Given the description of an element on the screen output the (x, y) to click on. 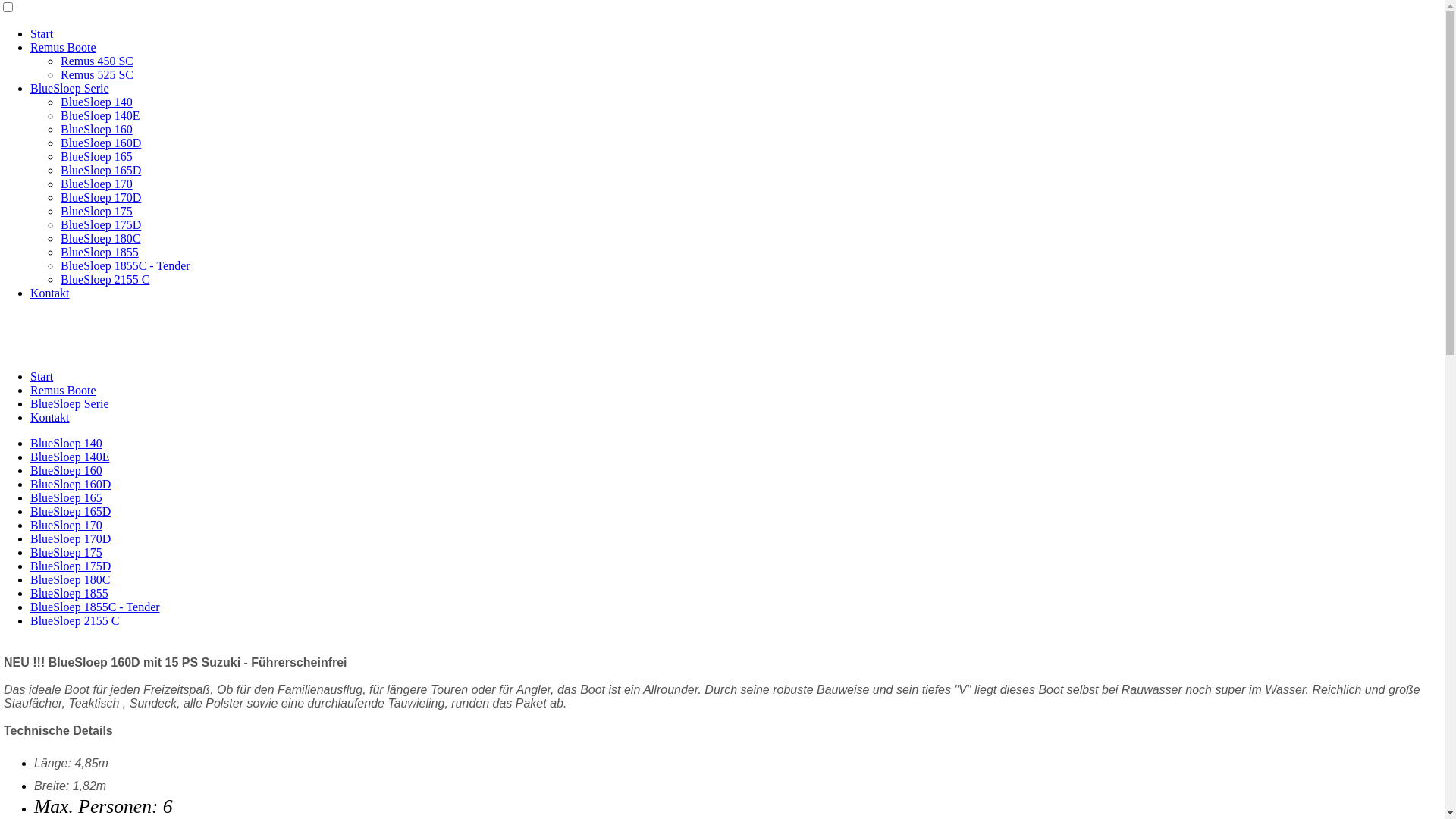
BlueSloep 165D Element type: text (70, 511)
BlueSloep 140E Element type: text (69, 456)
BlueSloep 175D Element type: text (100, 224)
BlueSloep 1855C - Tender Element type: text (95, 606)
BlueSloep 165 Element type: text (96, 156)
BlueSloep 180C Element type: text (69, 579)
BlueSloep 180C Element type: text (100, 238)
BlueSloep Serie Element type: text (69, 87)
BlueSloep 2155 C Element type: text (74, 620)
Remus Boote Element type: text (63, 46)
BlueSloep 170D Element type: text (70, 538)
BlueSloep 175 Element type: text (96, 210)
Remus 525 SC Element type: text (96, 74)
BlueSloep 1855 Element type: text (99, 251)
BlueSloep 160 Element type: text (66, 470)
BlueSloep 140 Element type: text (66, 442)
Start Element type: text (41, 33)
BlueSloep 175D Element type: text (70, 565)
BlueSloep 1855C - Tender Element type: text (125, 265)
BlueSloep Serie Element type: text (69, 403)
Start Element type: text (41, 376)
Kontakt Element type: text (49, 417)
BlueSloep 170 Element type: text (66, 524)
Remus 450 SC Element type: text (96, 60)
BlueSloep 160 Element type: text (96, 128)
BlueSloep 140 Element type: text (96, 101)
BlueSloep 170D Element type: text (100, 197)
BlueSloep 160D Element type: text (100, 142)
BlueSloep 165 Element type: text (66, 497)
BlueSloep 2155 C Element type: text (104, 279)
BlueSloep 170 Element type: text (96, 183)
BlueSloep 140E Element type: text (99, 115)
Kontakt Element type: text (49, 292)
BlueSloep 160D Element type: text (70, 483)
Remus Boote Element type: text (63, 389)
BlueSloep 165D Element type: text (100, 169)
BlueSloep 1855 Element type: text (69, 592)
BlueSloep 175 Element type: text (66, 552)
